Given the description of an element on the screen output the (x, y) to click on. 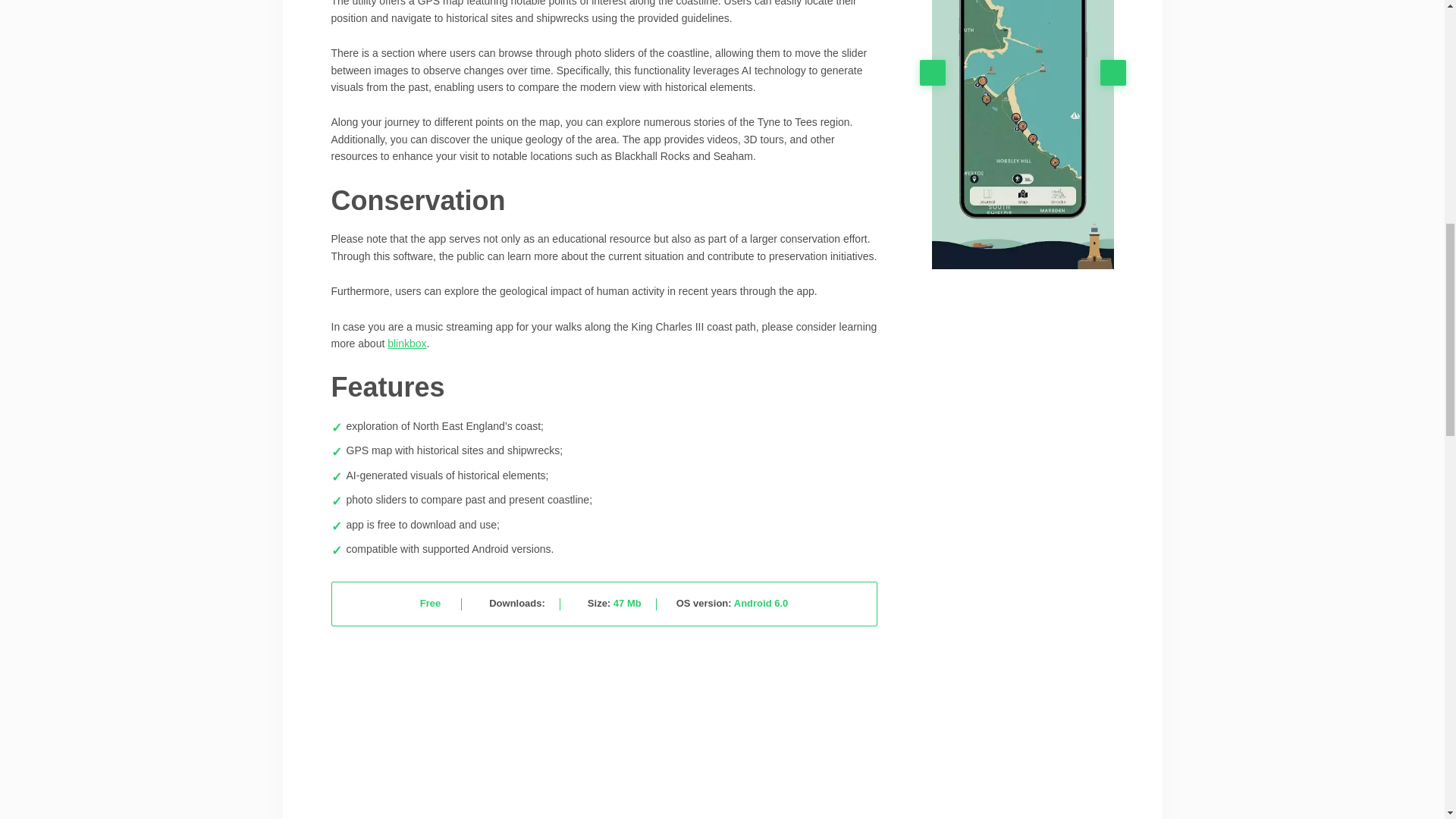
blinkbox (406, 343)
